Given the description of an element on the screen output the (x, y) to click on. 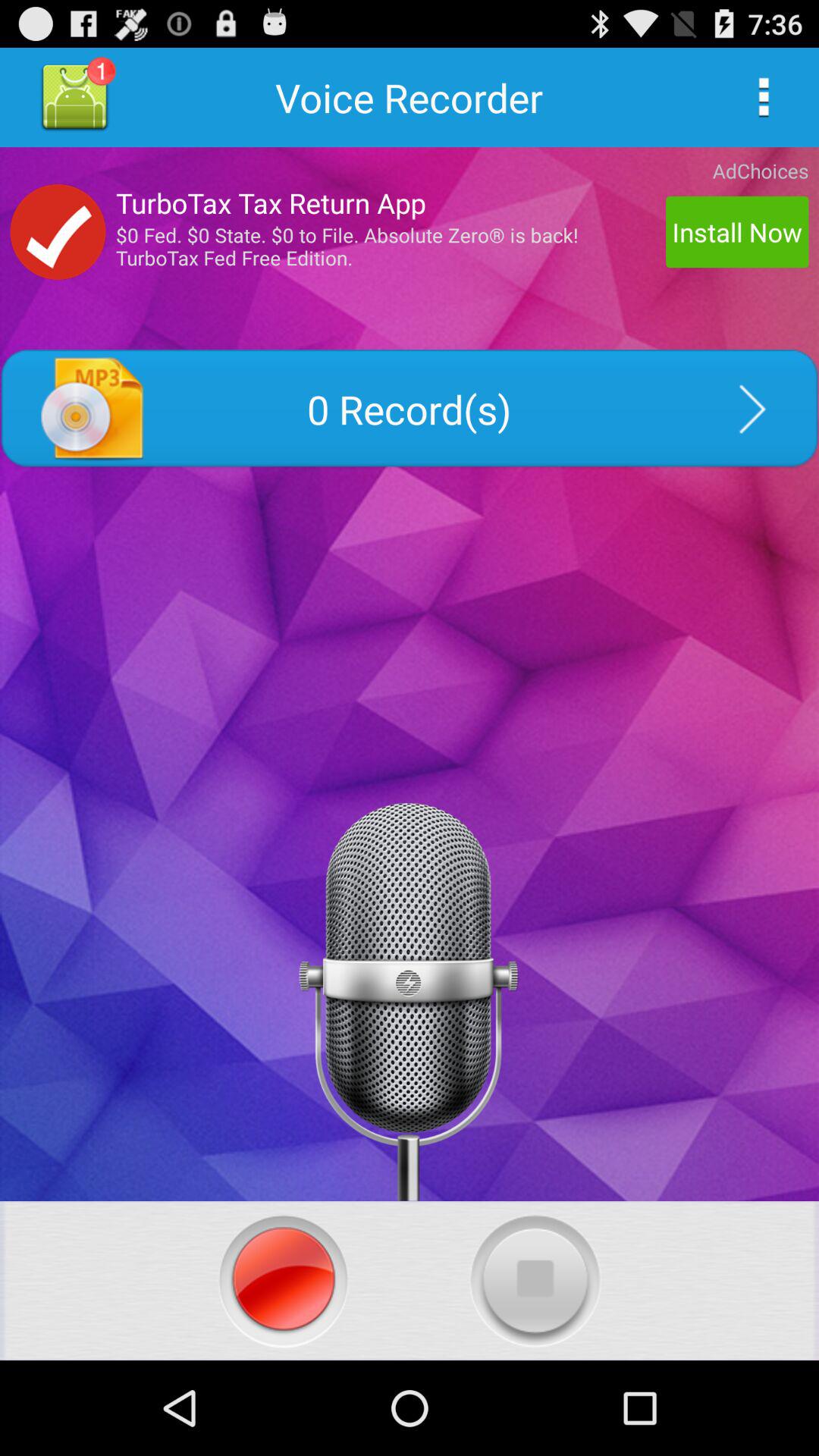
profile button (75, 97)
